Given the description of an element on the screen output the (x, y) to click on. 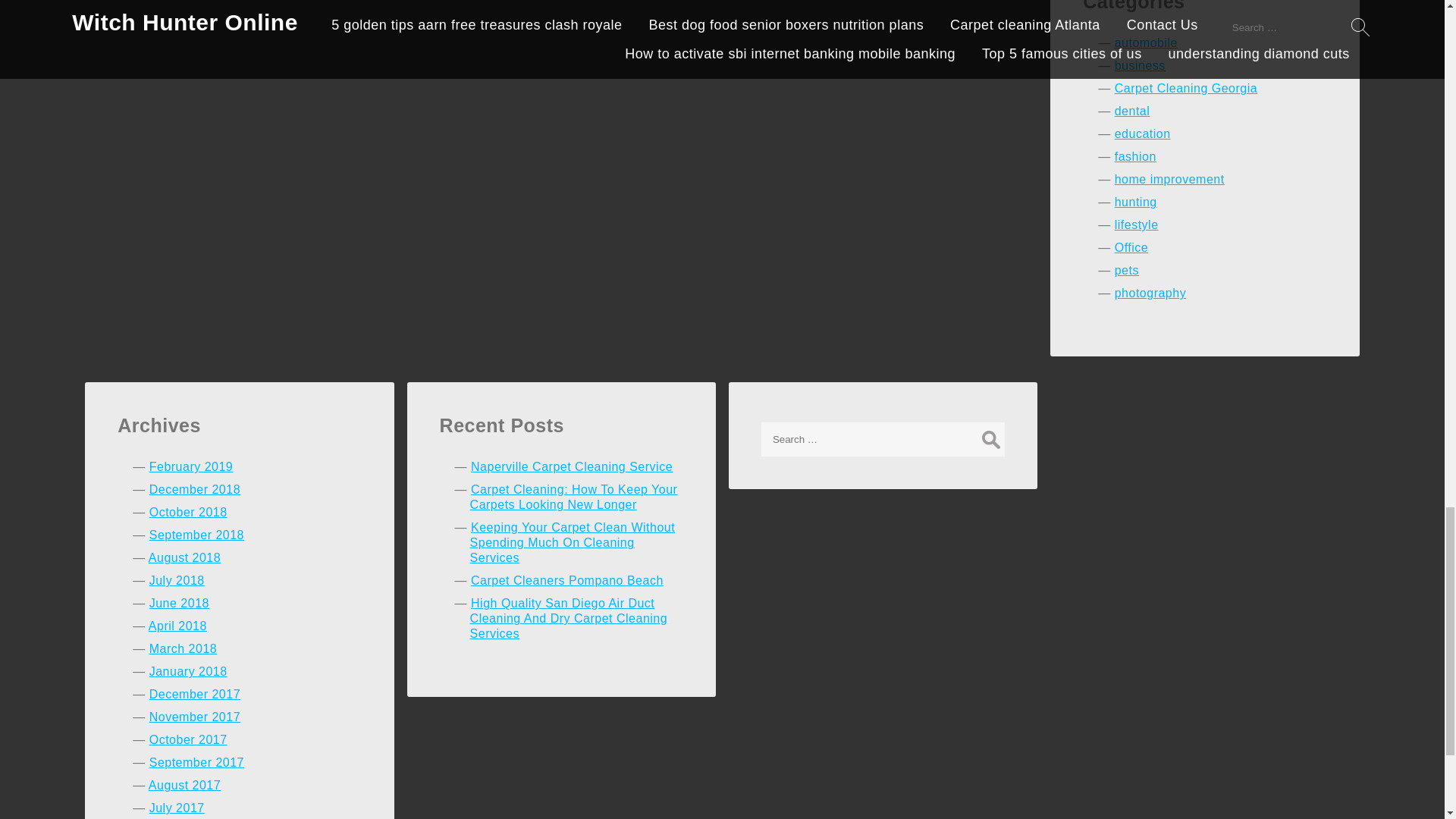
business (1140, 65)
automobile (1146, 42)
education (1142, 133)
December 2018 (194, 489)
October 2018 (188, 512)
home improvement (1169, 178)
dental (1132, 110)
Carpet Cleaning Georgia (1186, 88)
February 2019 (190, 466)
lifestyle (1136, 224)
